Given the description of an element on the screen output the (x, y) to click on. 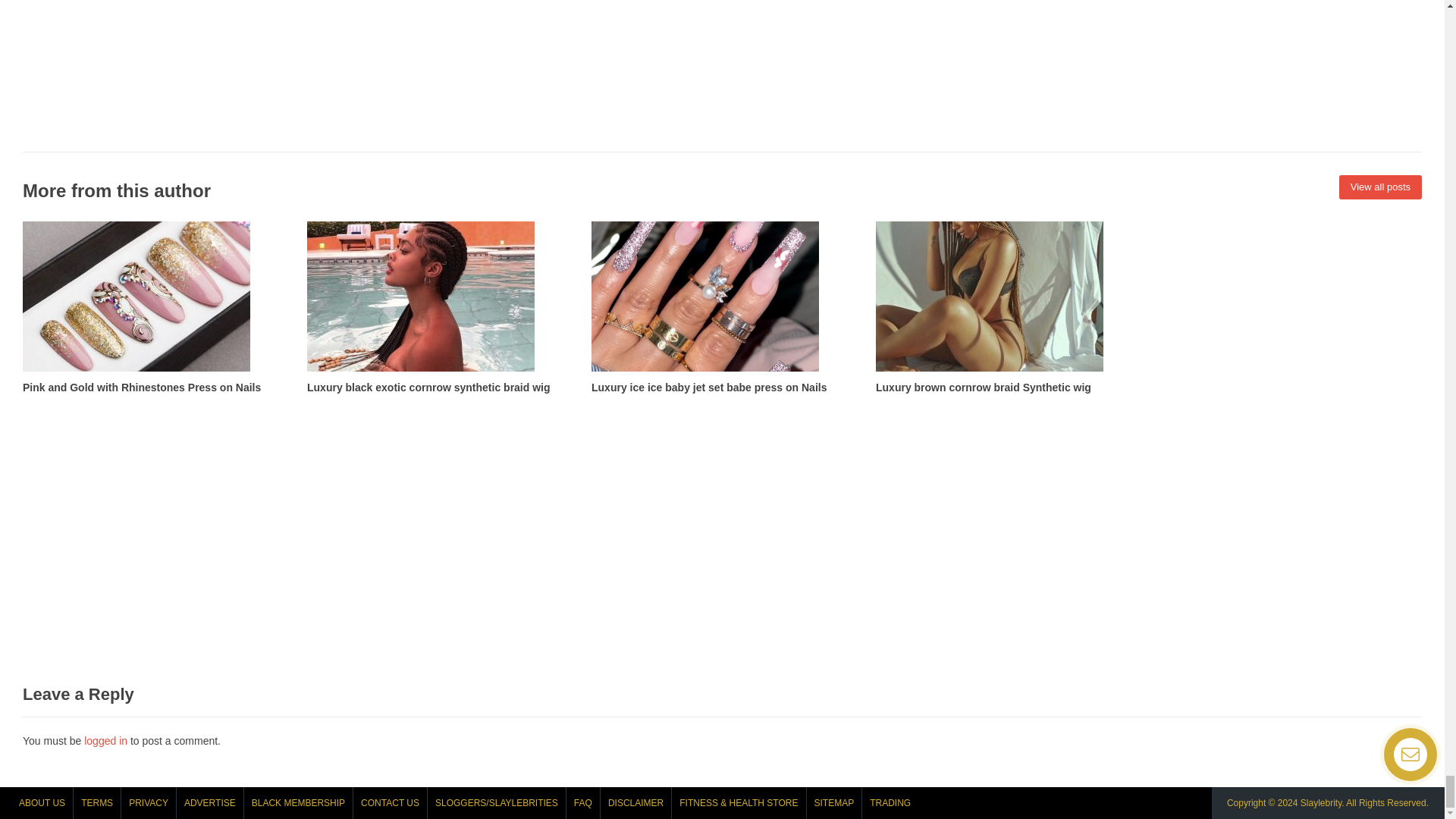
Pink and Gold with Rhinestones Press on Nails (153, 308)
Luxury ice ice baby jet set babe press on Nails (722, 308)
Luxury black exotic cornrow synthetic braid wig (438, 308)
View all posts (1380, 187)
Luxury brown cornrow braid Synthetic wig (1006, 308)
